Given the description of an element on the screen output the (x, y) to click on. 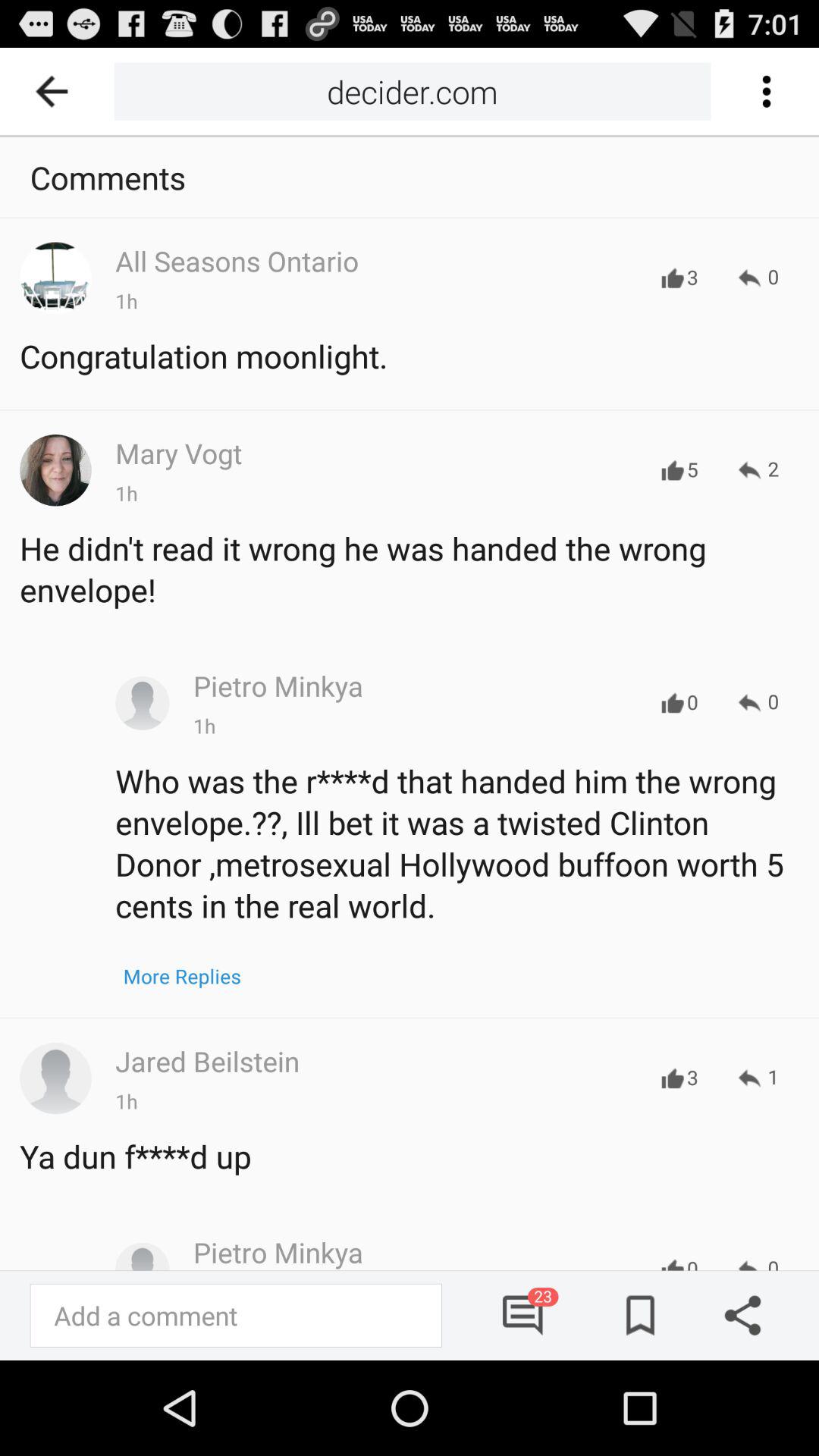
open the icon next to the add a comment icon (523, 1315)
